Given the description of an element on the screen output the (x, y) to click on. 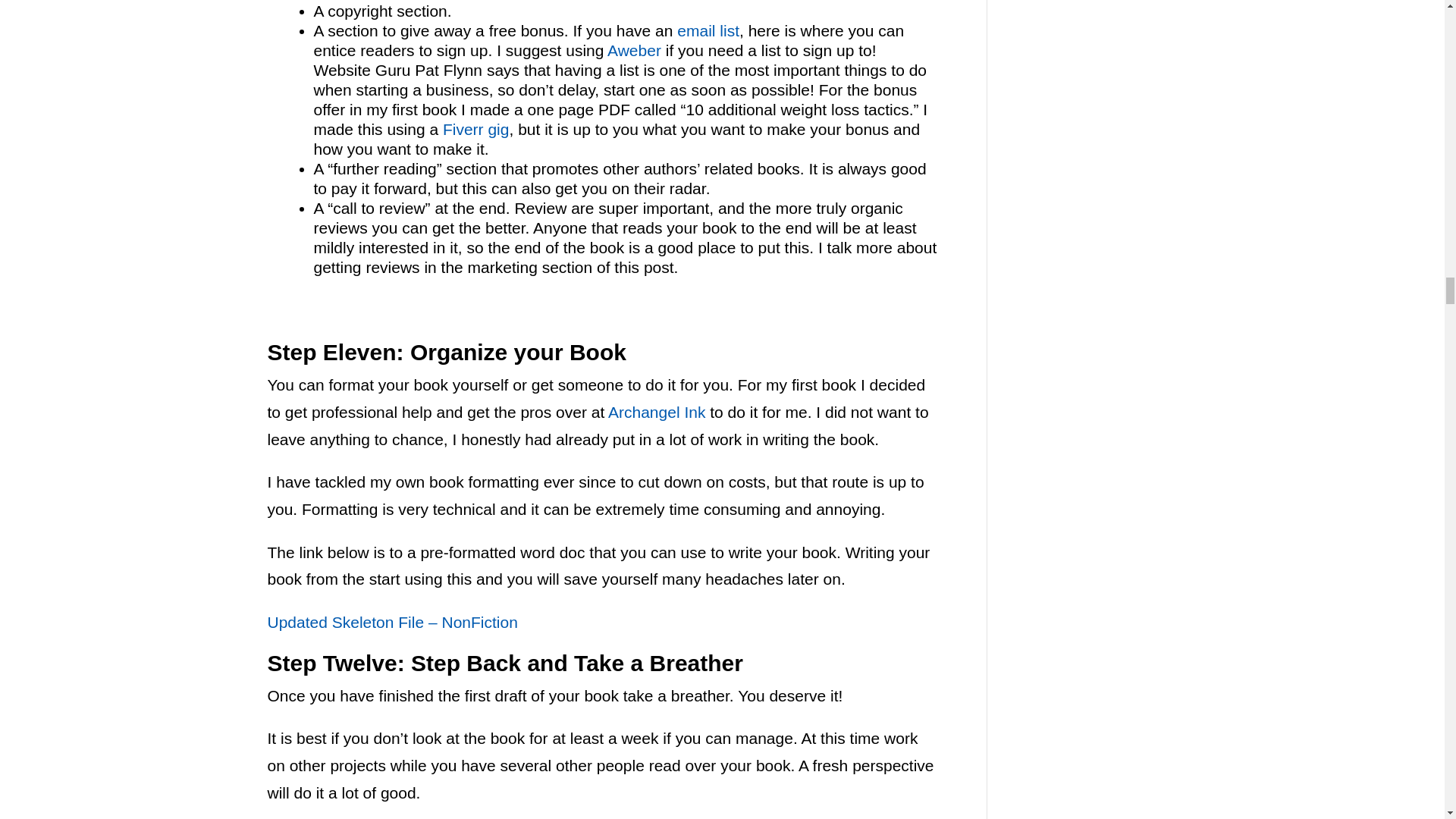
Fiverr gig (475, 129)
email list (708, 30)
Aweber (634, 49)
Archangel Ink (656, 411)
